Given the description of an element on the screen output the (x, y) to click on. 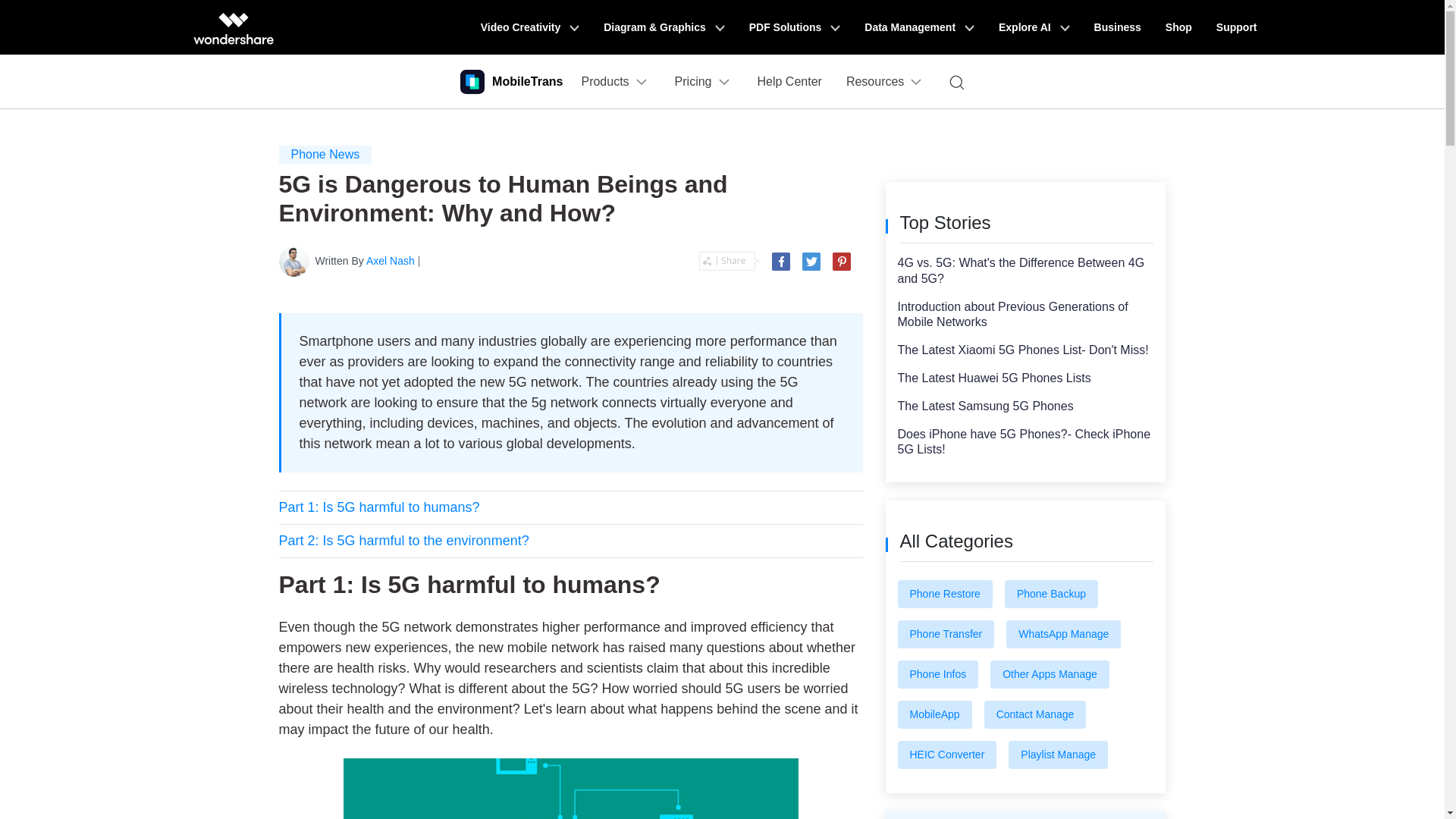
Data Management (919, 27)
PDF Solutions (794, 27)
Video Creativity (529, 27)
